Given the description of an element on the screen output the (x, y) to click on. 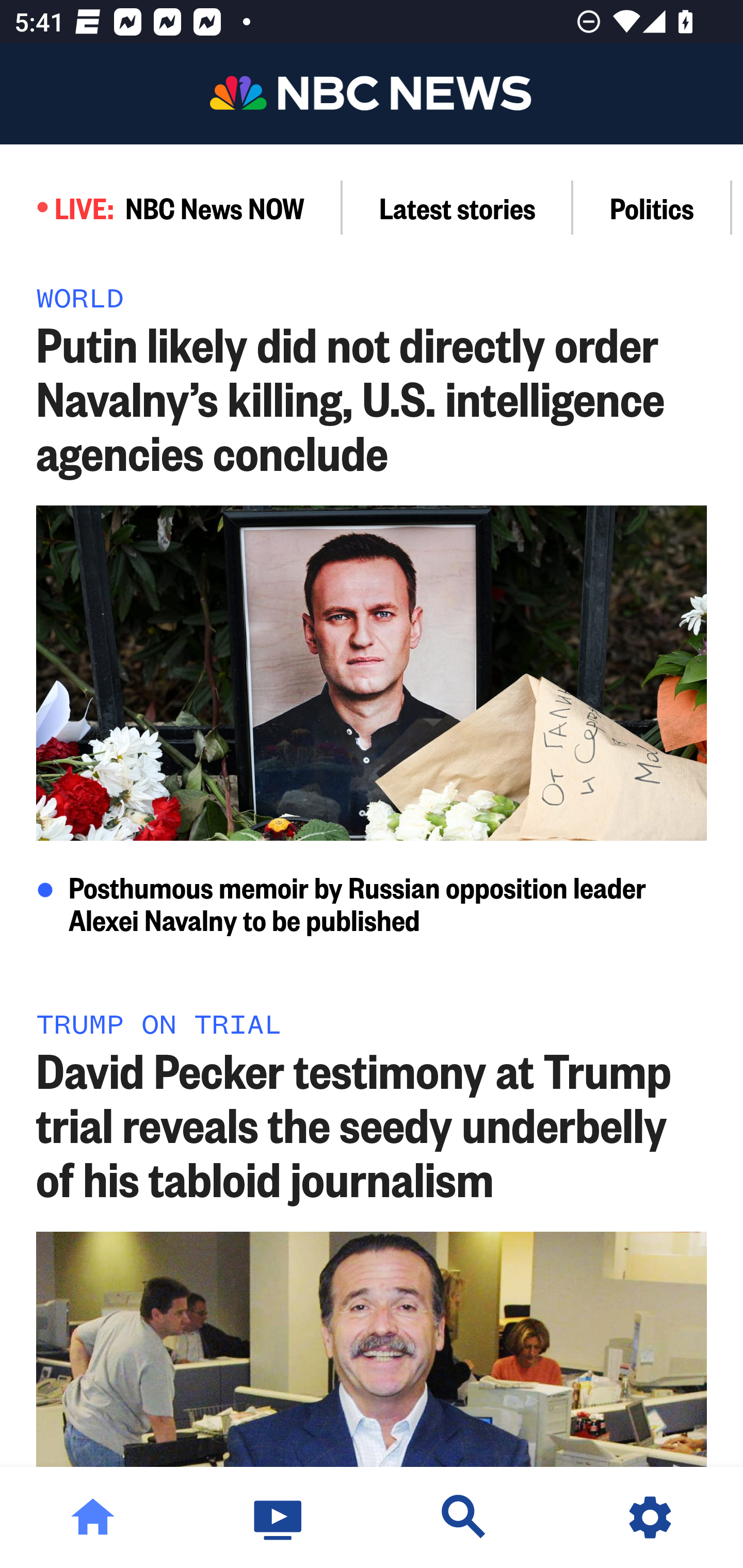
LIVE:  NBC News NOW (171, 207)
Latest stories Section,Latest stories (457, 207)
Politics Section,Politics (652, 207)
Watch (278, 1517)
Discover (464, 1517)
Settings (650, 1517)
